Given the description of an element on the screen output the (x, y) to click on. 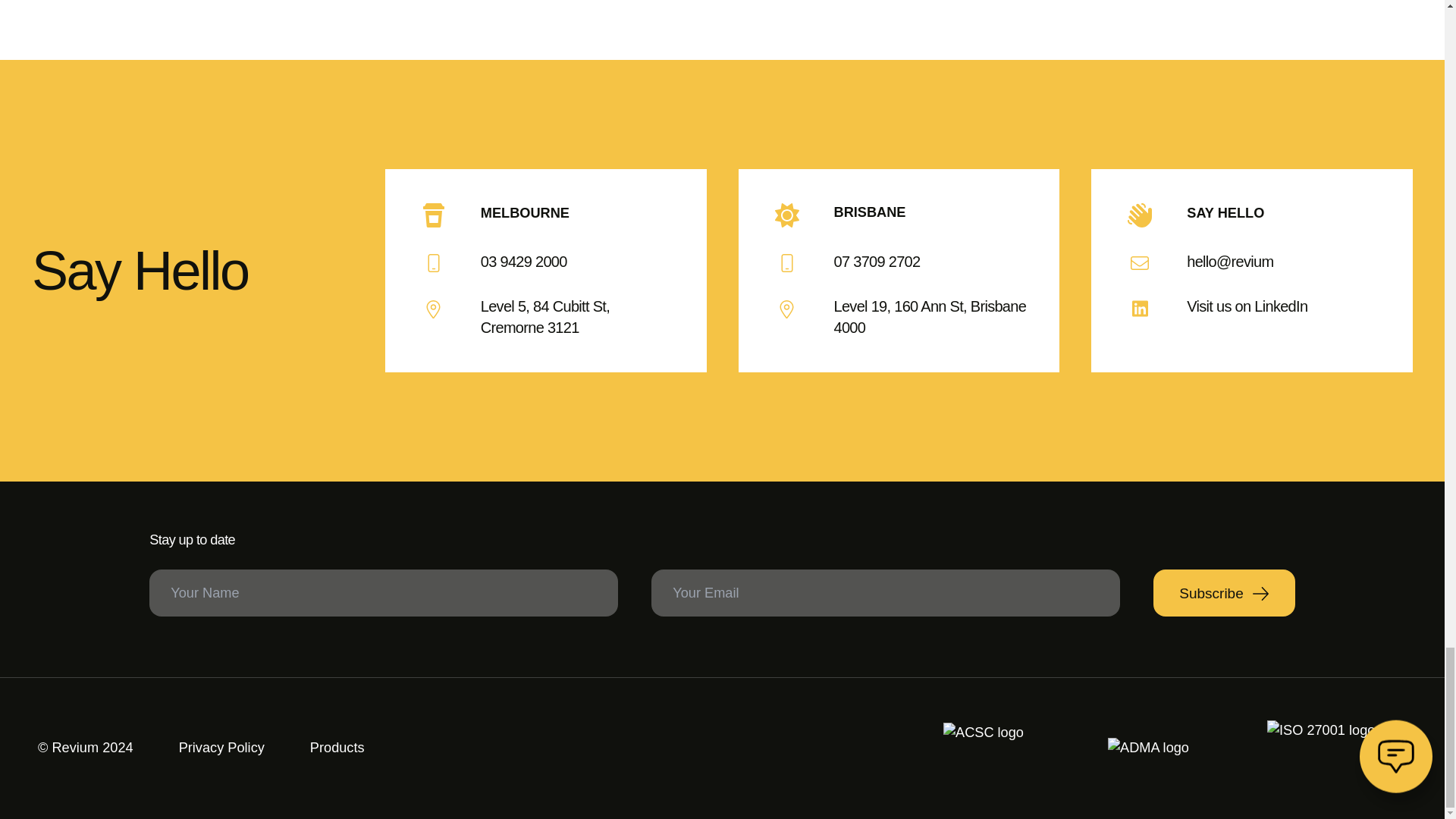
03 9429 2000 (545, 262)
Subscribe (1224, 592)
07 3709 2702 (898, 262)
Level 5, 84 Cubitt St, Cremorne 3121 (545, 318)
Level 19, 160 Ann St, Brisbane 4000 (898, 318)
Visit us on LinkedIn (1251, 307)
